Given the description of an element on the screen output the (x, y) to click on. 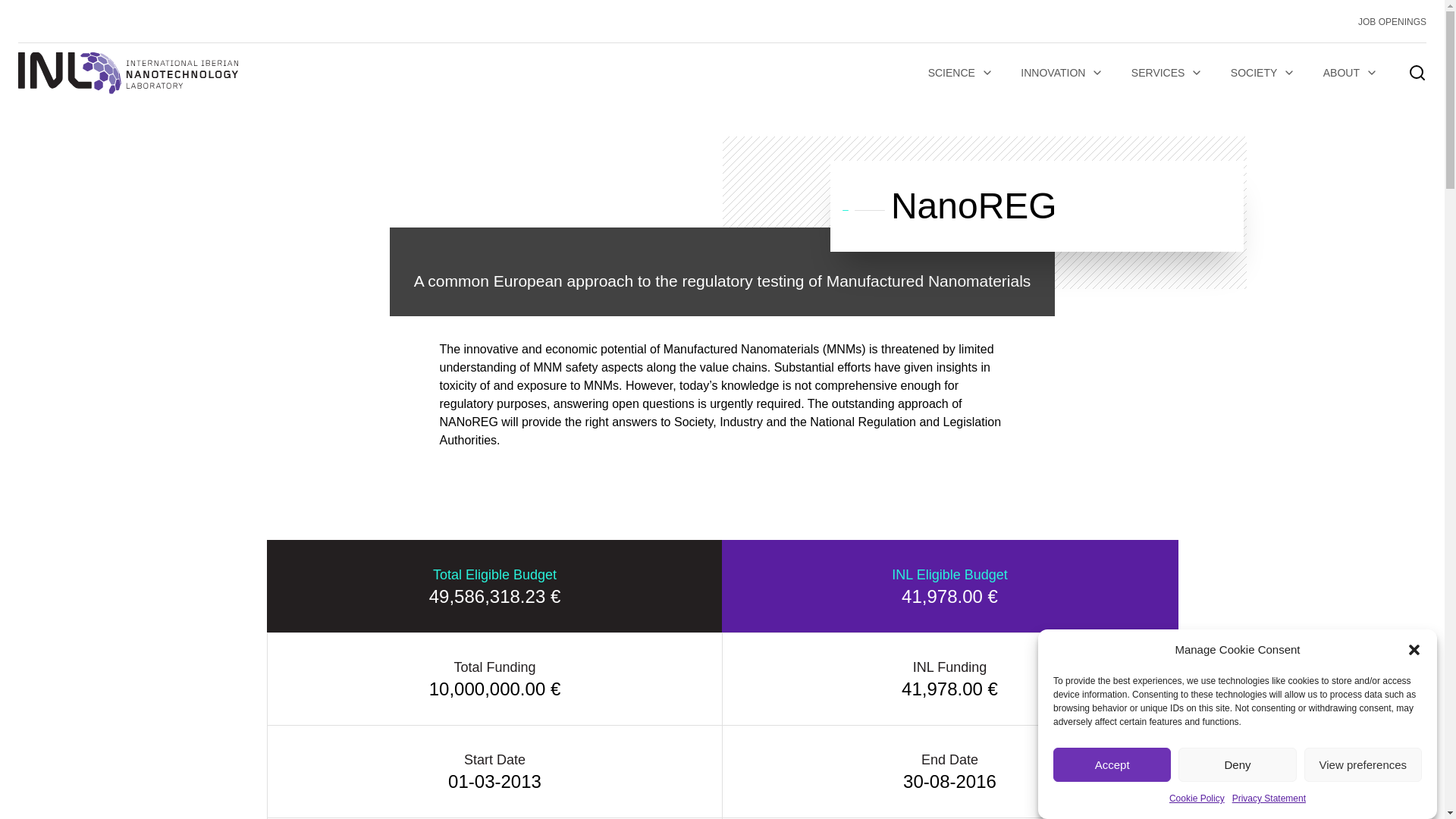
INNOVATION (1062, 72)
Subscribe (331, 589)
SOCIETY (1262, 72)
SERVICES (1167, 72)
INL home (127, 73)
SCIENCE (960, 72)
View preferences (1363, 817)
